Given the description of an element on the screen output the (x, y) to click on. 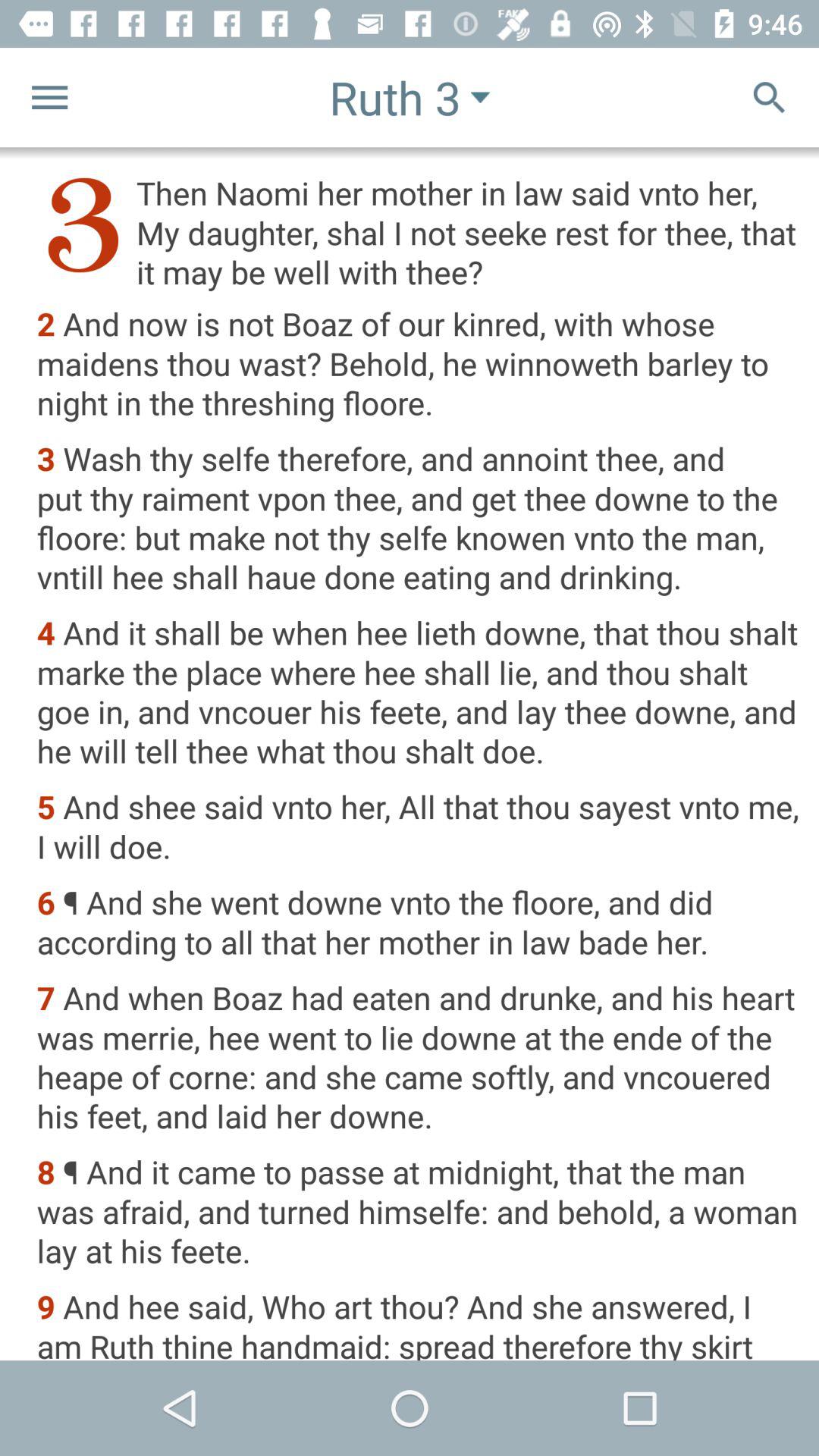
swipe until 2 and now item (417, 365)
